Given the description of an element on the screen output the (x, y) to click on. 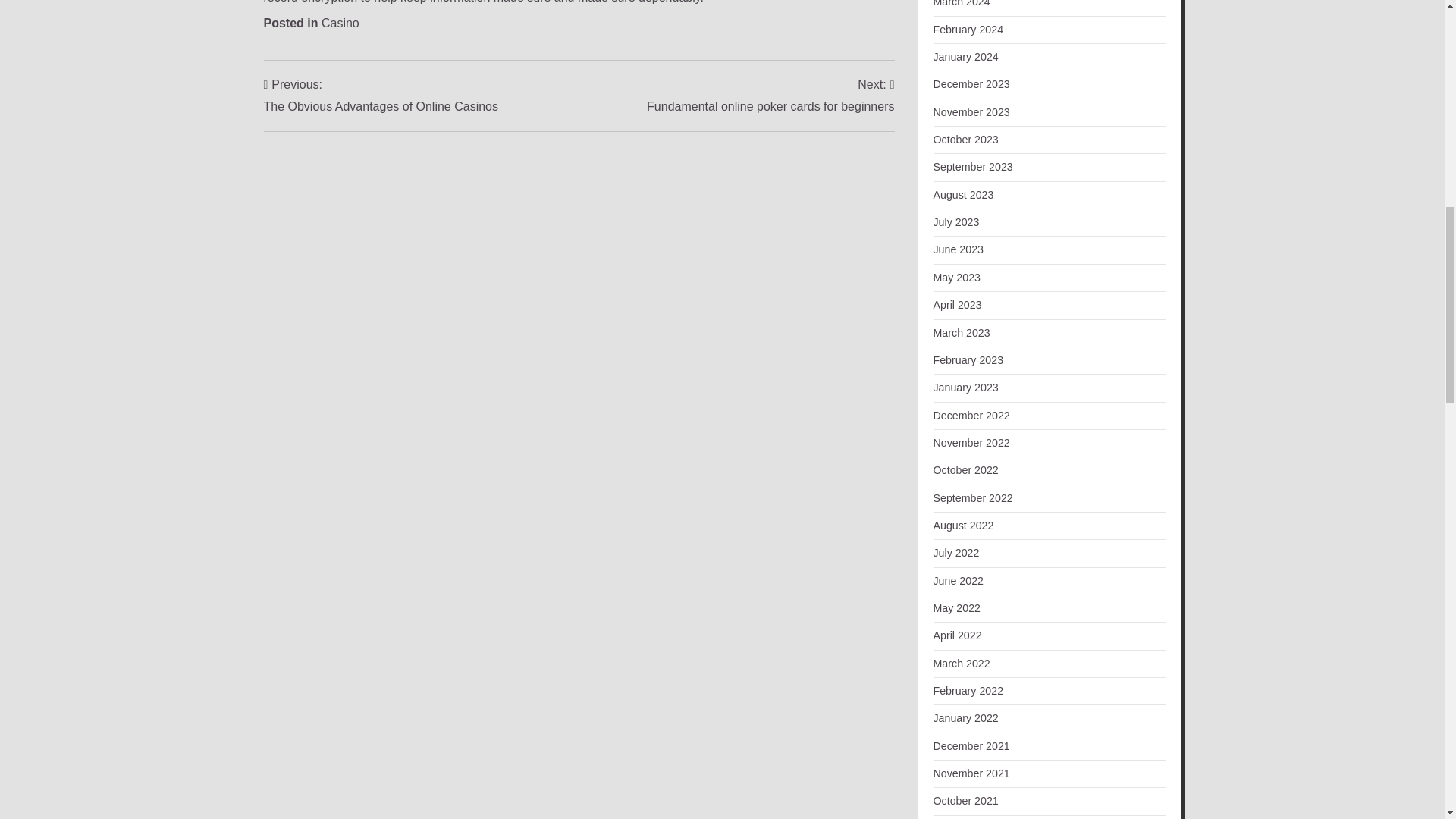
August 2023 (962, 194)
September 2023 (972, 166)
Casino (340, 22)
February 2024 (968, 29)
May 2023 (769, 96)
October 2023 (956, 277)
January 2024 (965, 139)
November 2023 (965, 56)
